Given the description of an element on the screen output the (x, y) to click on. 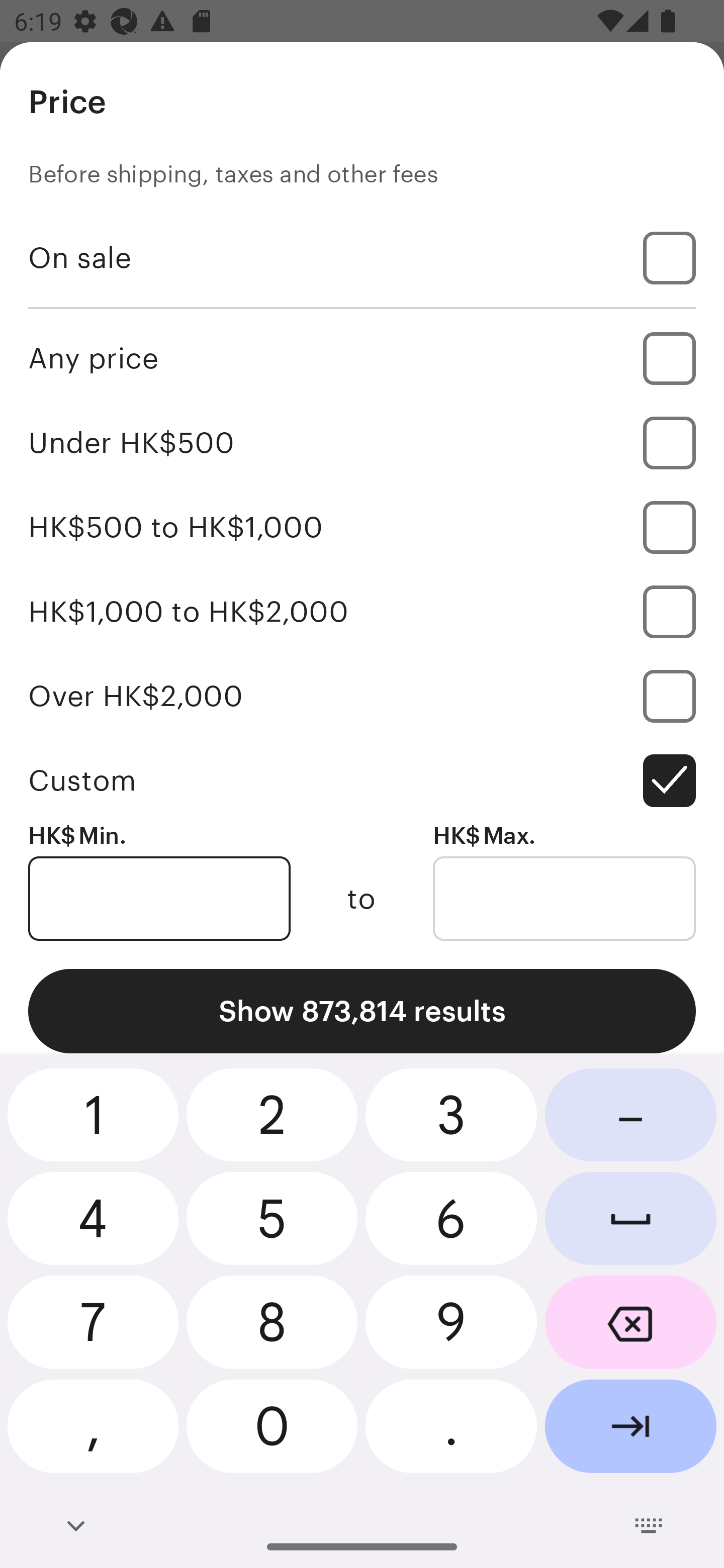
On sale (362, 257)
Any price (362, 357)
Under HK$500 (362, 441)
HK$500 to HK$1,000 (362, 526)
HK$1,000 to HK$2,000 (362, 611)
Over HK$2,000 (362, 695)
Custom (362, 780)
Show 873,814 results (361, 1011)
